Given the description of an element on the screen output the (x, y) to click on. 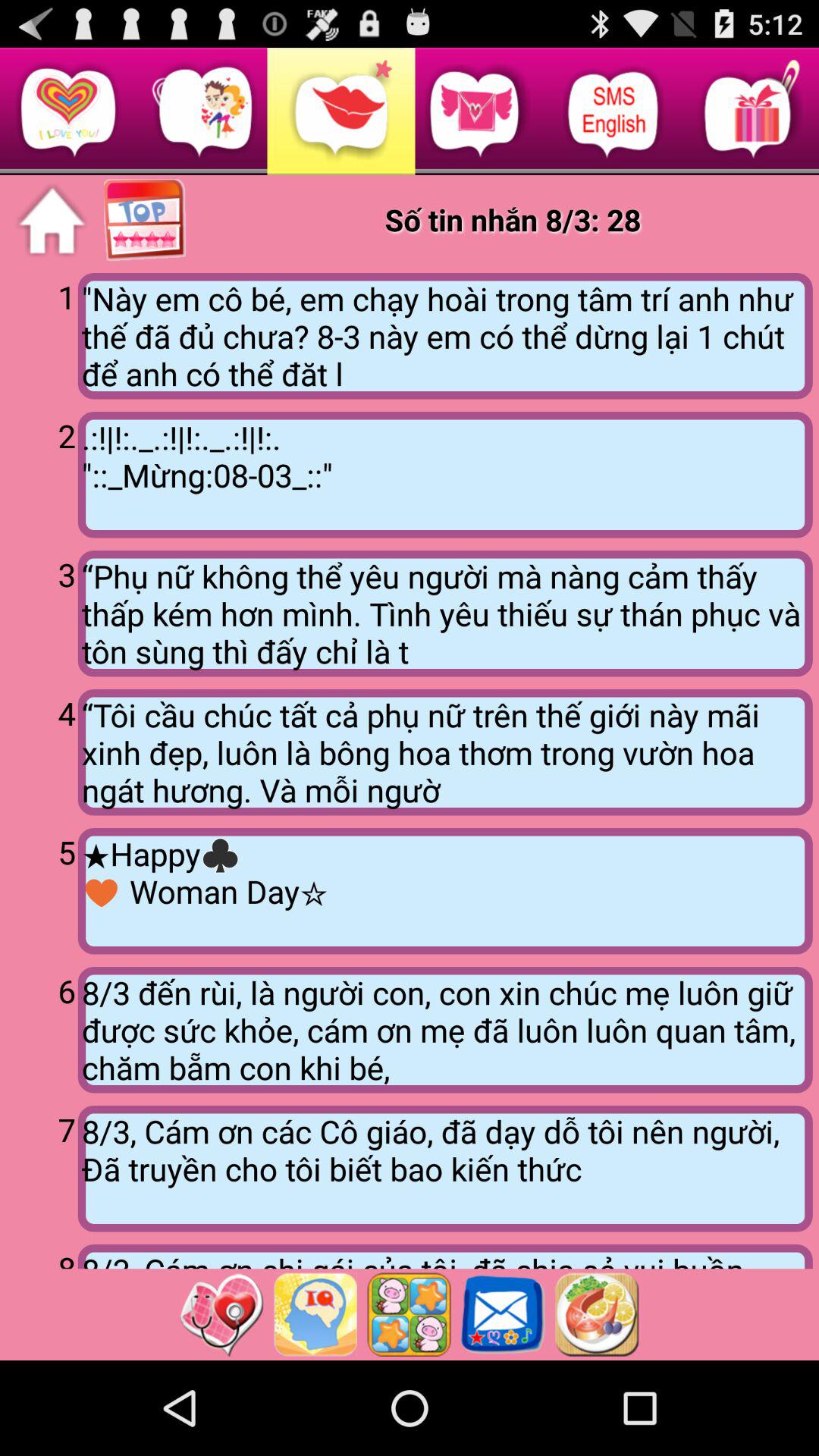
top score (145, 220)
